Given the description of an element on the screen output the (x, y) to click on. 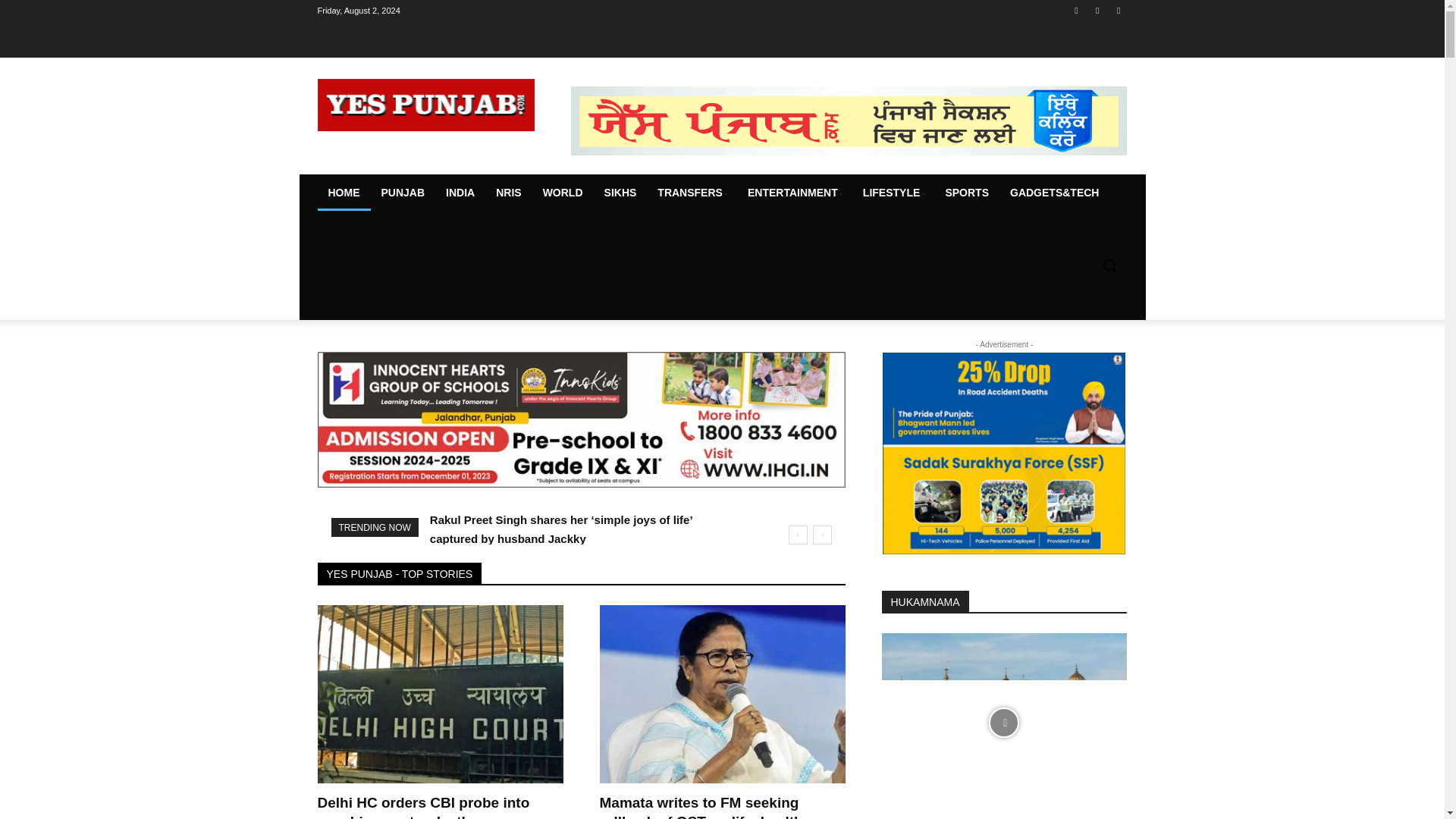
TRANSFERS (691, 192)
Facebook (1075, 9)
Twitter (1117, 9)
PUNJAB (402, 192)
WORLD (563, 192)
NRIS (507, 192)
Delhi HC orders CBI probe into coaching centre deaths (423, 806)
INDIA (459, 192)
Instagram (1097, 9)
ENTERTAINMENT (793, 192)
HOME (343, 192)
SIKHS (620, 192)
Delhi HC orders CBI probe into coaching centre deaths (439, 693)
